Given the description of an element on the screen output the (x, y) to click on. 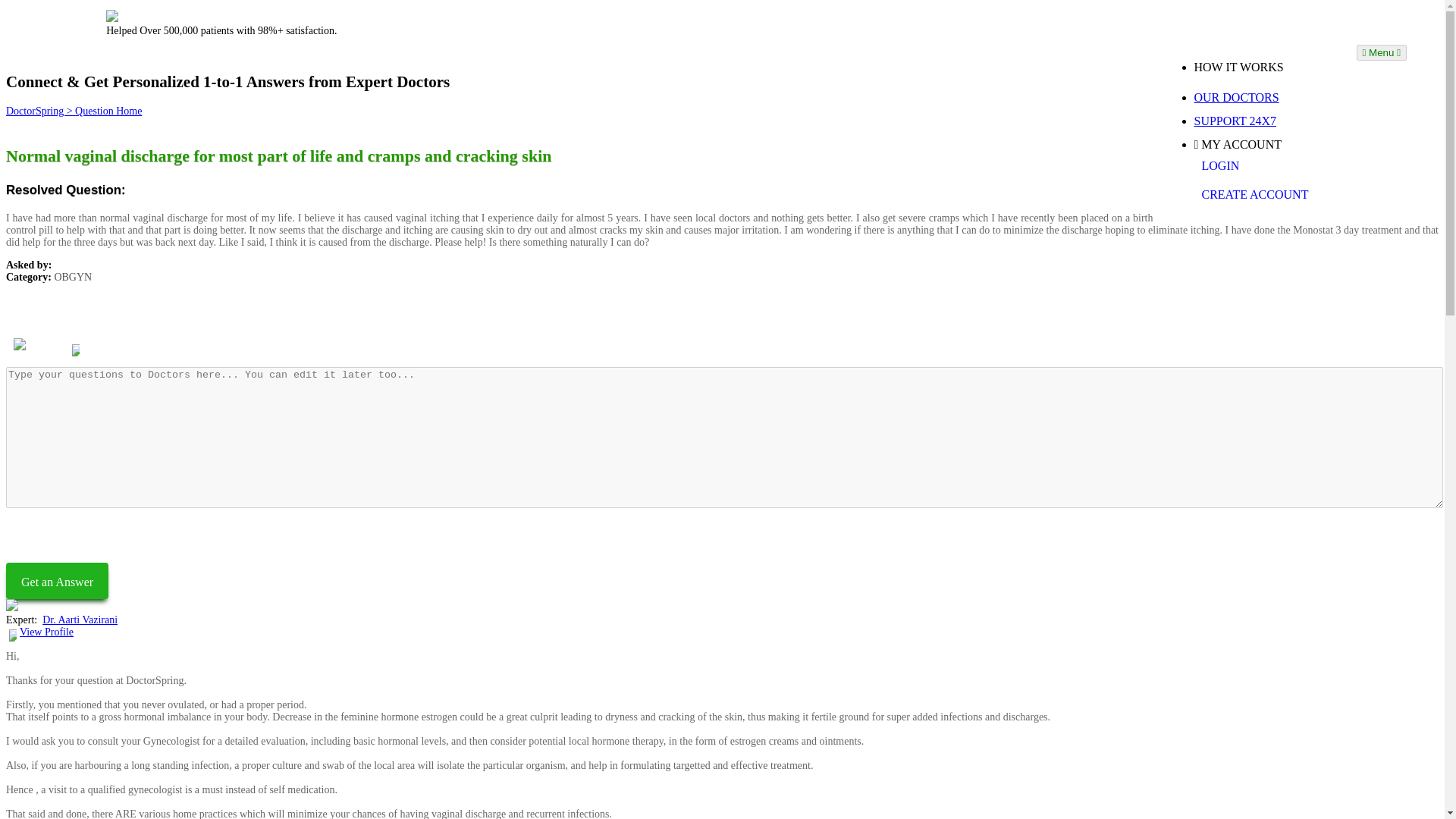
Get an Answer (56, 580)
Question Home (108, 111)
LOGIN (1269, 165)
View Profile (47, 632)
 Menu (1380, 52)
Dr. Aarti Vazirani (79, 619)
SUPPORT 24X7 (1269, 120)
 MY ACCOUNT (1269, 144)
Get an Answer (56, 580)
Dr. Aarti Vazirani (105, 322)
HOW IT WORKS (1269, 67)
OUR DOCTORS (1269, 97)
CREATE ACCOUNT (1269, 194)
View Profile (108, 346)
